Given the description of an element on the screen output the (x, y) to click on. 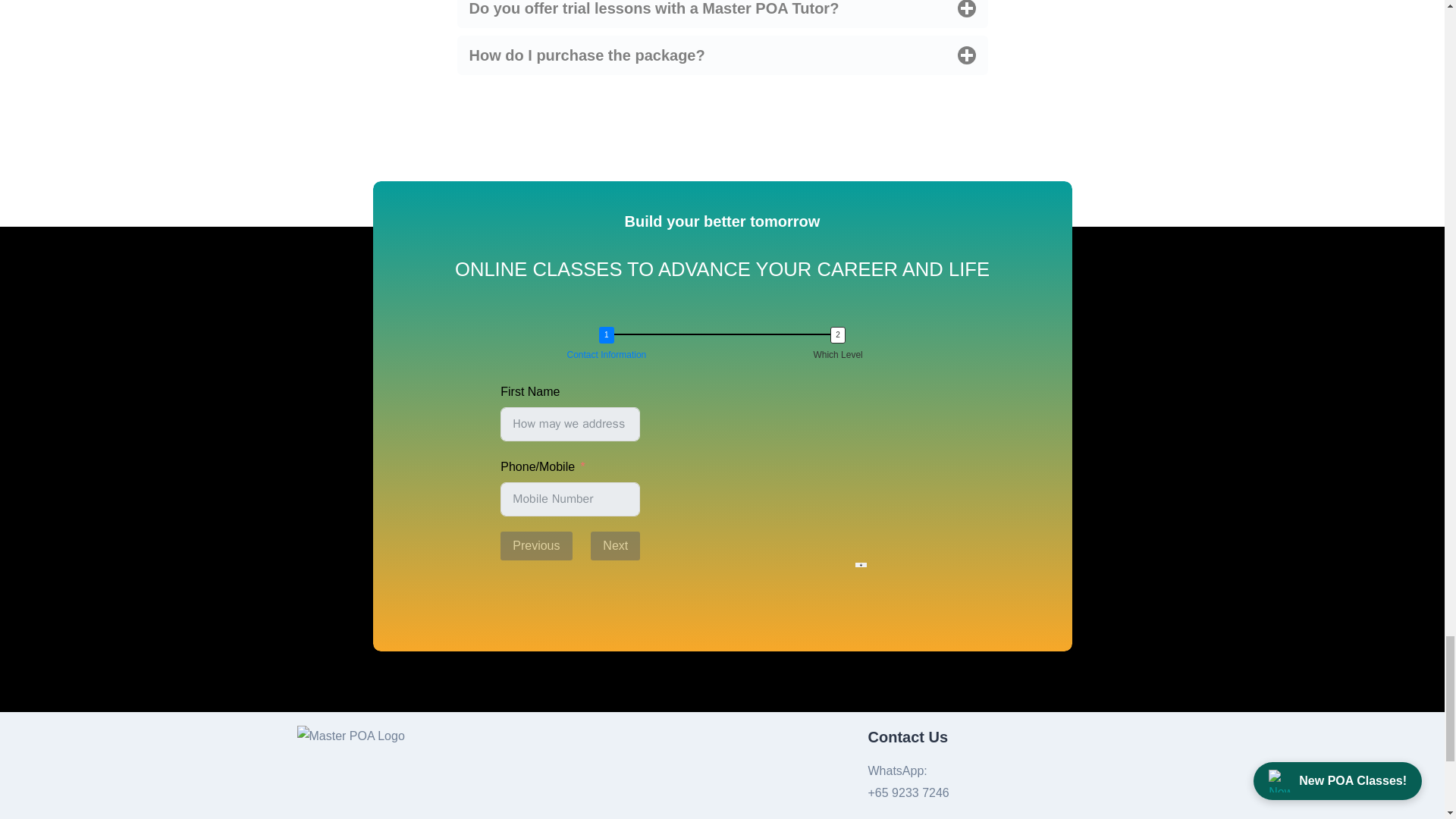
1:1 Online Tuition with MPOA Instructor (505, 622)
Blended Learning - combination of portal access and consult (505, 716)
Self-pace, Self-directed access to MPOA Portal (505, 669)
Unsure - please advise (505, 786)
